Given the description of an element on the screen output the (x, y) to click on. 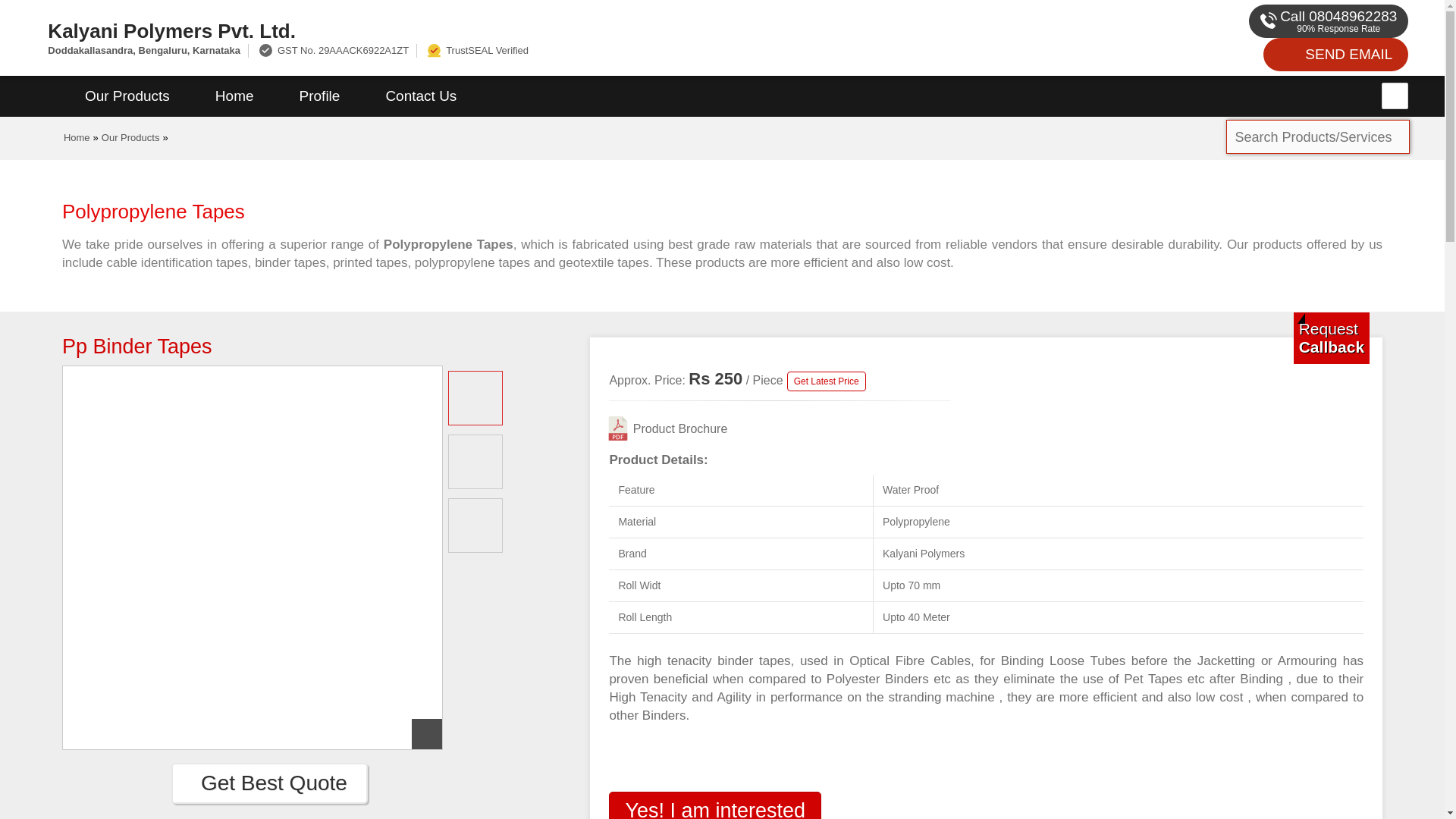
Contact Us (420, 96)
Home (77, 137)
Kalyani Polymers Pvt. Ltd. (485, 31)
Our Products (127, 96)
Our Products (130, 137)
Profile (319, 96)
Get a Call from us (1332, 337)
Home (234, 96)
